Given the description of an element on the screen output the (x, y) to click on. 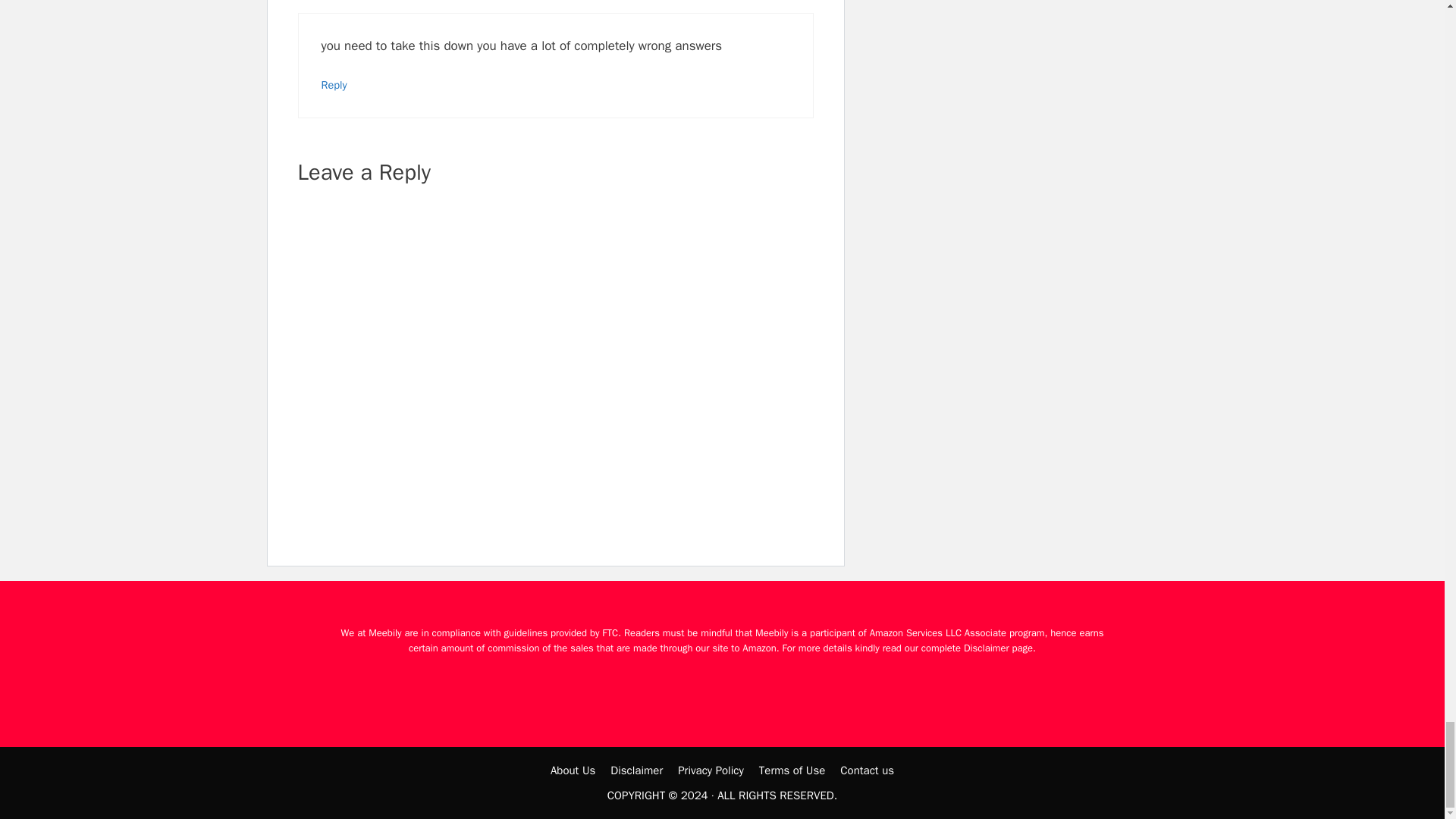
DMCA.com Protection Status (722, 685)
